Given the description of an element on the screen output the (x, y) to click on. 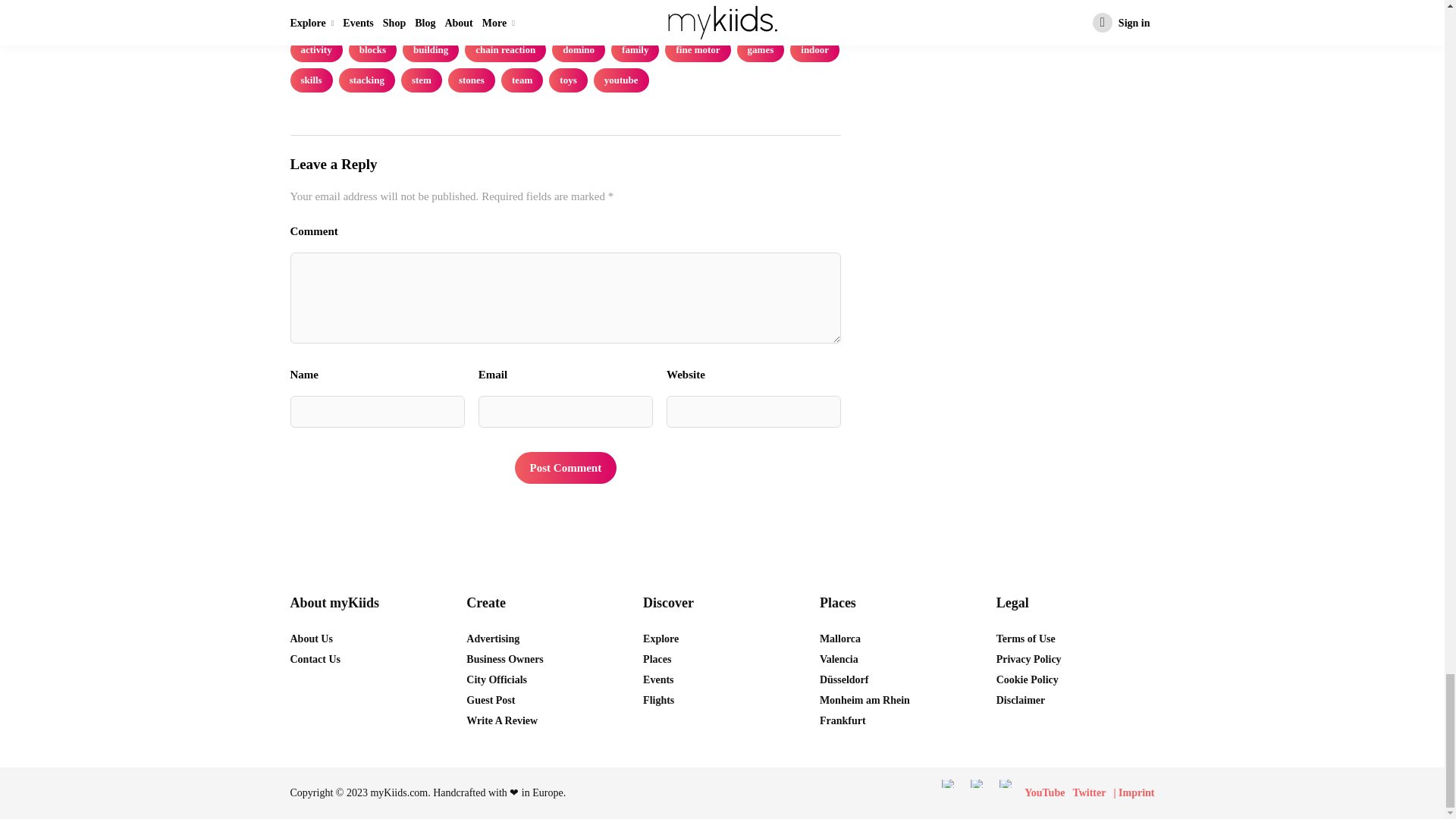
family (635, 49)
blocks (372, 49)
domino (578, 49)
activity (315, 49)
building (430, 49)
chain reaction (505, 49)
English (948, 782)
Deutsch (977, 782)
Post Comment (566, 468)
